Given the description of an element on the screen output the (x, y) to click on. 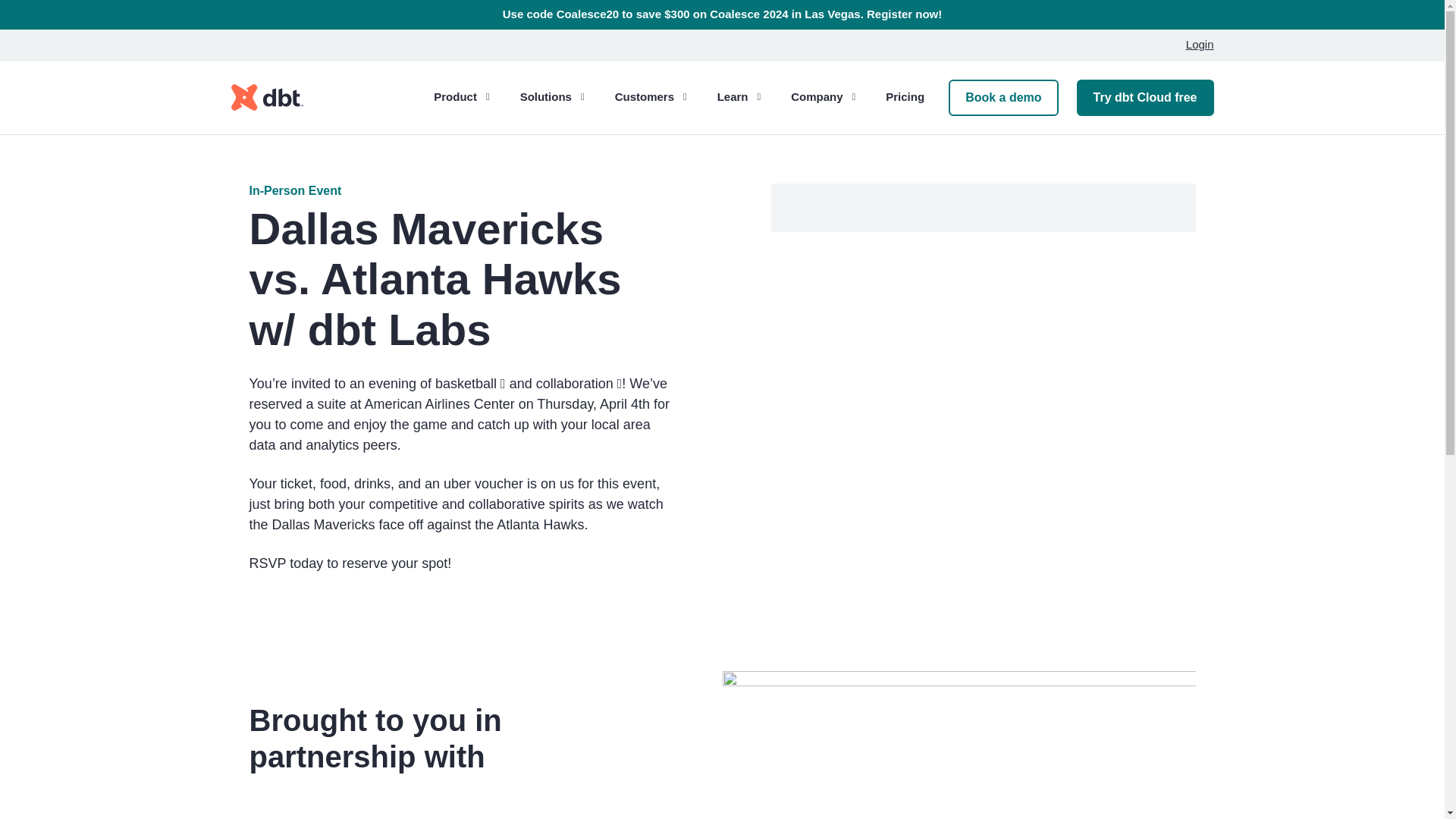
Brought to you in partnership with (448, 737)
Login (1193, 45)
Company (822, 97)
Customers (650, 97)
Book a demo (1003, 96)
Product (461, 97)
Solutions (552, 97)
Learn (739, 97)
Try dbt Cloud free (1145, 96)
Pricing (904, 97)
